Given the description of an element on the screen output the (x, y) to click on. 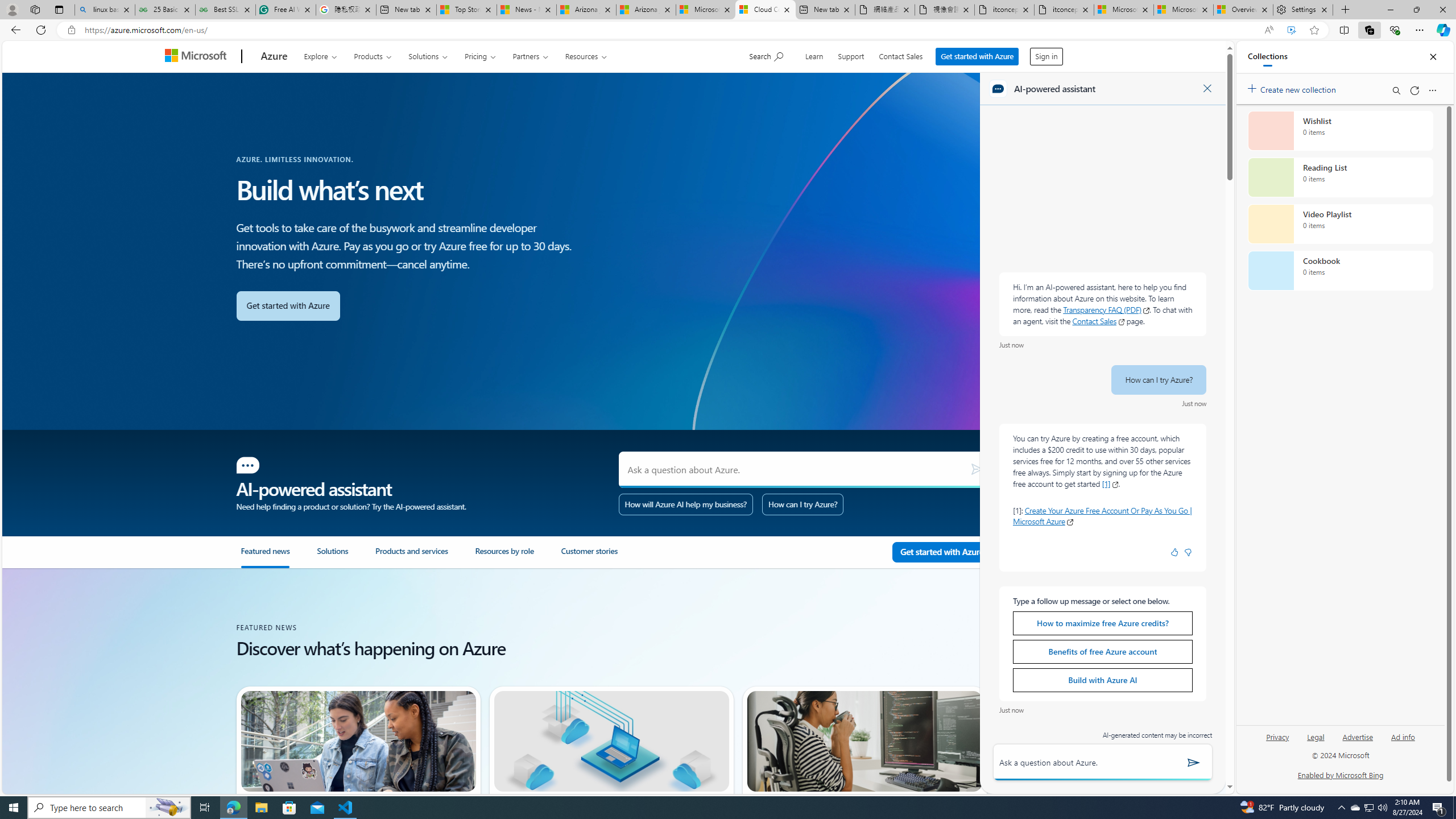
Sign in (1045, 56)
Transparency FAQ (PDF) Opens in a new window; external. (1105, 309)
Support (850, 54)
Top Stories - MSN (466, 9)
Close Dialog (1207, 88)
Privacy (1277, 741)
Sign in (1046, 53)
